Given the description of an element on the screen output the (x, y) to click on. 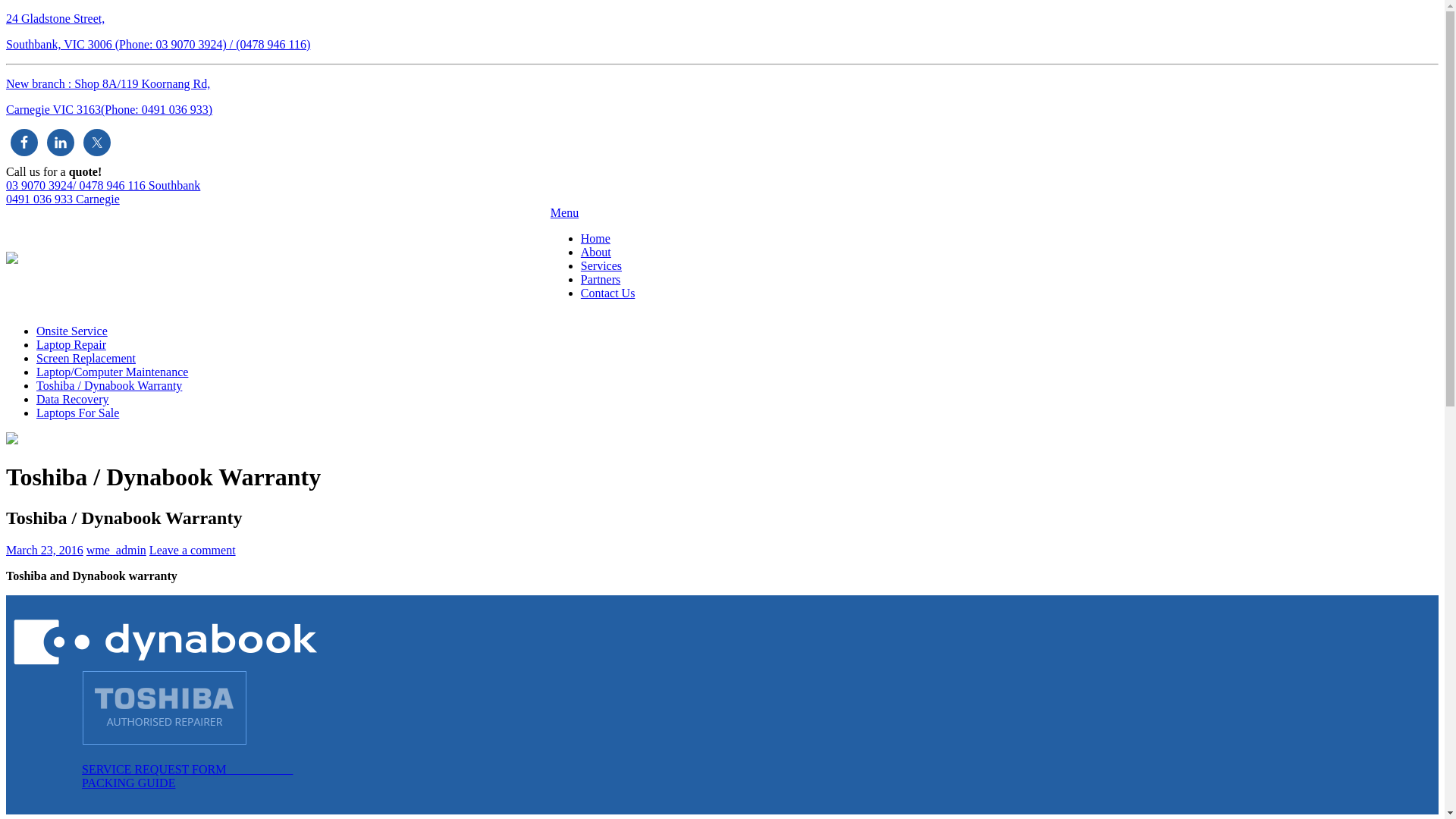
PACKING GUIDE Element type: text (128, 782)
New branch : Shop 8A/119 Koornang Rd, Element type: text (108, 83)
Laptop Repair Element type: text (71, 344)
Contact Us Element type: text (607, 292)
Carnegie VIC 3163(Phone: 0491 036 933) Element type: text (109, 109)
Onsite Service Element type: text (71, 330)
Menu Element type: text (564, 212)
Leave a comment Element type: text (192, 549)
03 9070 3924/ 0478 946 116 Southbank Element type: text (103, 184)
Screen Replacement Element type: text (85, 357)
About Element type: text (595, 251)
Laptop/Computer Maintenance Element type: text (112, 371)
Southbank, VIC 3006 (Phone: 03 9070 3924) / (0478 946 116) Element type: text (158, 43)
SERVICE REQUEST FORM                       Element type: text (186, 768)
Laptop Kings Element type: hover (12, 259)
Data Recovery Element type: text (72, 398)
24 Gladstone Street, Element type: text (55, 18)
Laptops For Sale Element type: text (77, 412)
Services Element type: text (600, 265)
Partners Element type: text (600, 279)
Home Element type: text (595, 238)
wme_admin Element type: text (116, 549)
March 23, 2016 Element type: text (44, 549)
Toshiba / Dynabook Warranty Element type: text (109, 385)
0491 036 933 Carnegie Element type: text (62, 198)
